Given the description of an element on the screen output the (x, y) to click on. 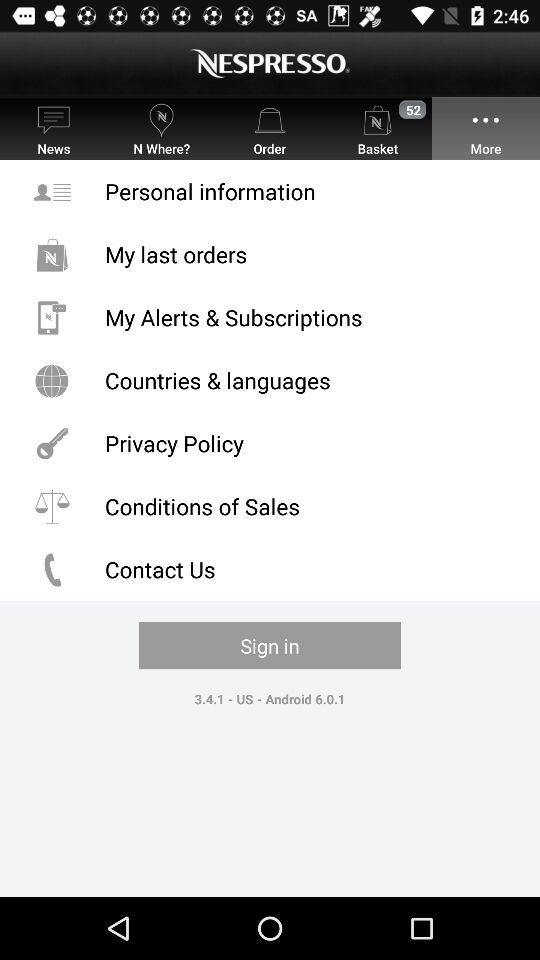
turn on the item above countries & languages item (270, 317)
